Given the description of an element on the screen output the (x, y) to click on. 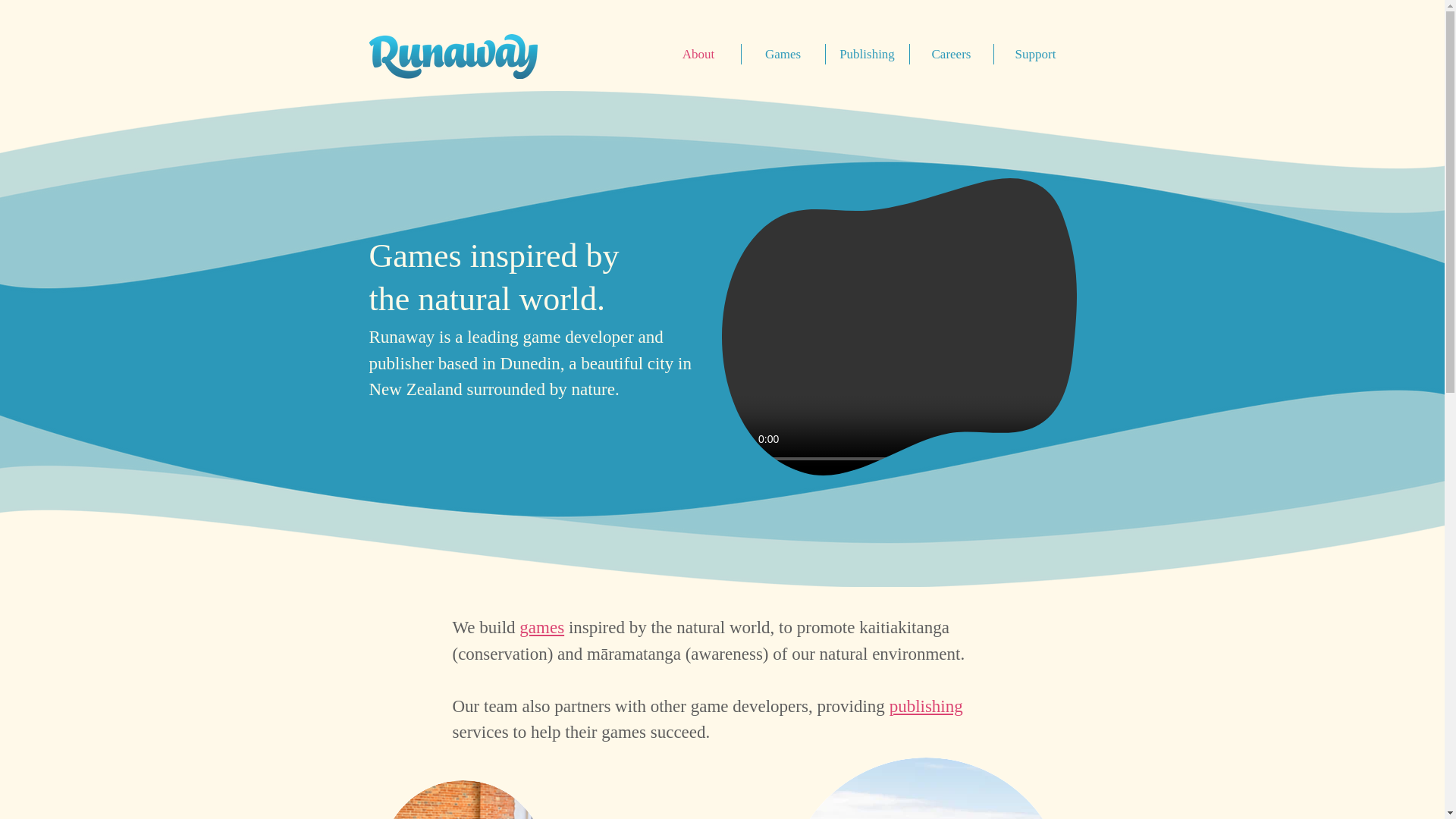
About (698, 54)
publishing (925, 705)
Games (783, 54)
games (541, 627)
Support (1034, 54)
Publishing (866, 54)
Careers (951, 54)
